Given the description of an element on the screen output the (x, y) to click on. 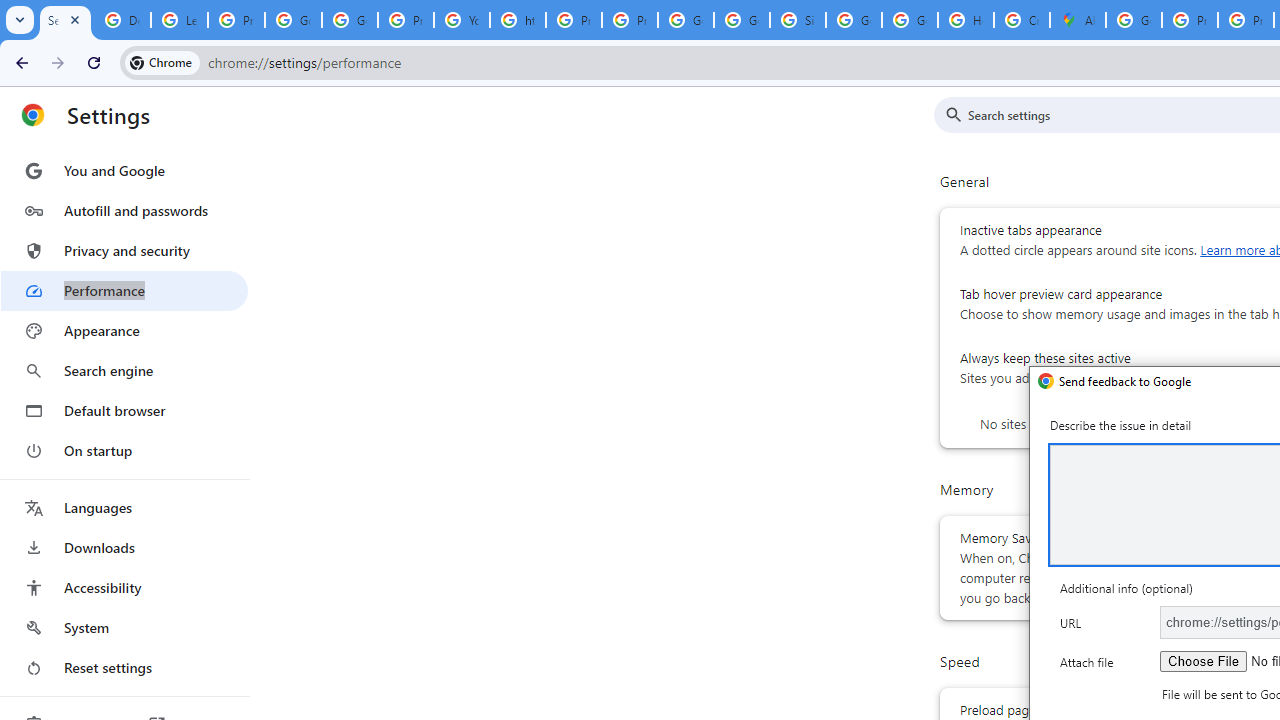
Sign in - Google Accounts (797, 20)
Accessibility (124, 587)
Google Account Help (293, 20)
YouTube (461, 20)
Downloads (124, 547)
Appearance (124, 331)
Privacy Help Center - Policies Help (573, 20)
